Given the description of an element on the screen output the (x, y) to click on. 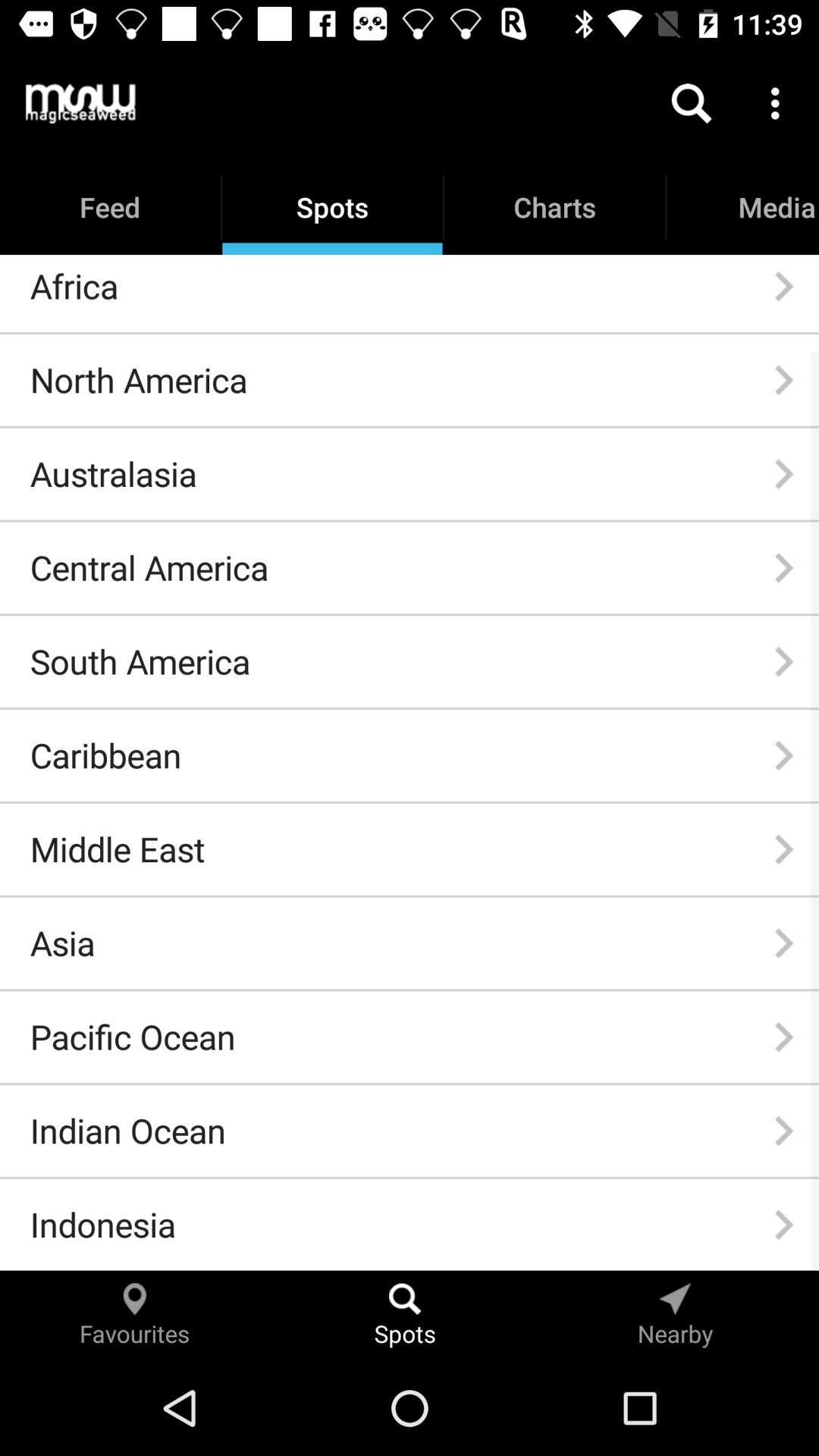
turn on item above caribbean icon (140, 661)
